Given the description of an element on the screen output the (x, y) to click on. 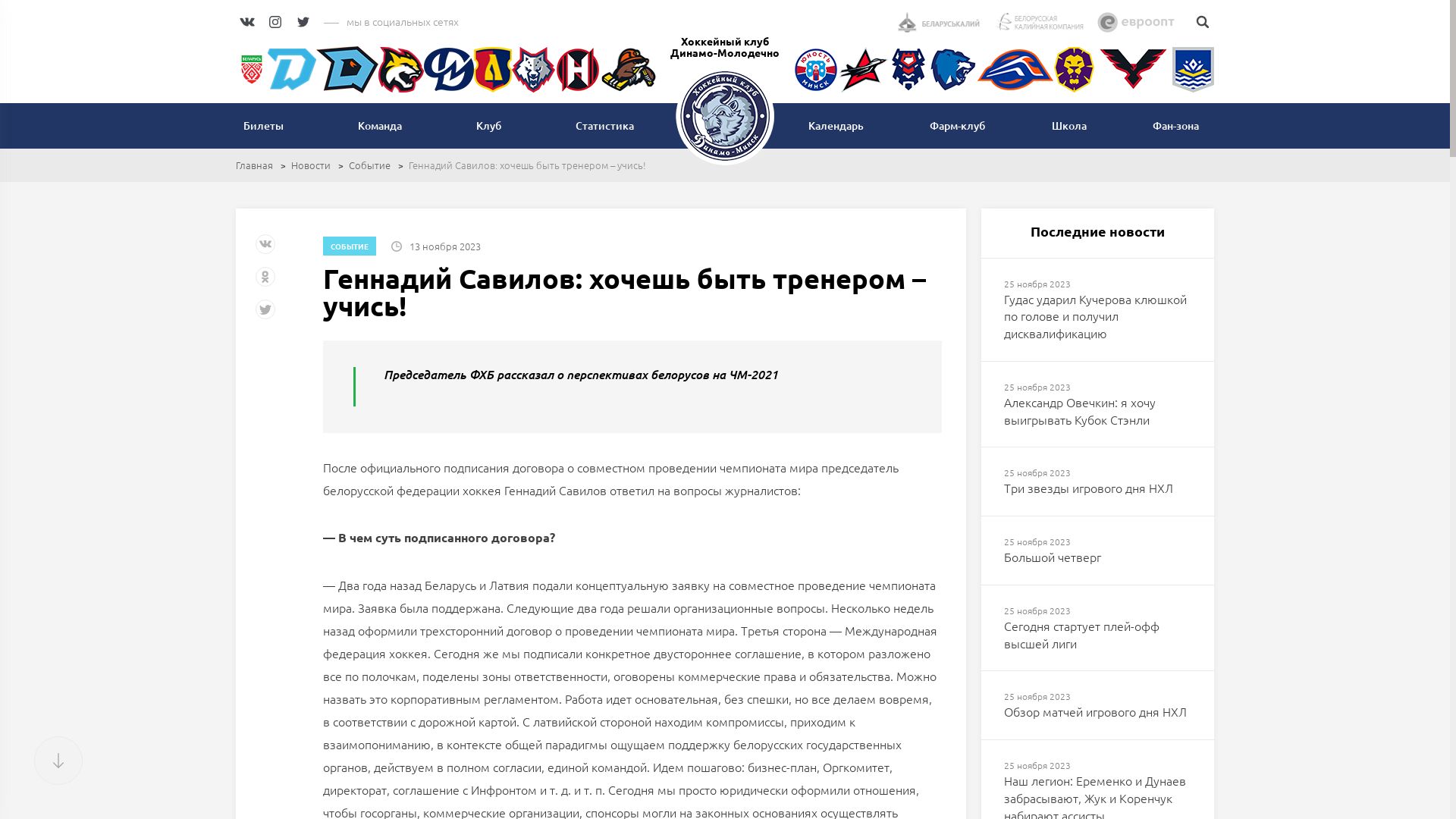
Twitter Element type: hover (266, 314)
